Given the description of an element on the screen output the (x, y) to click on. 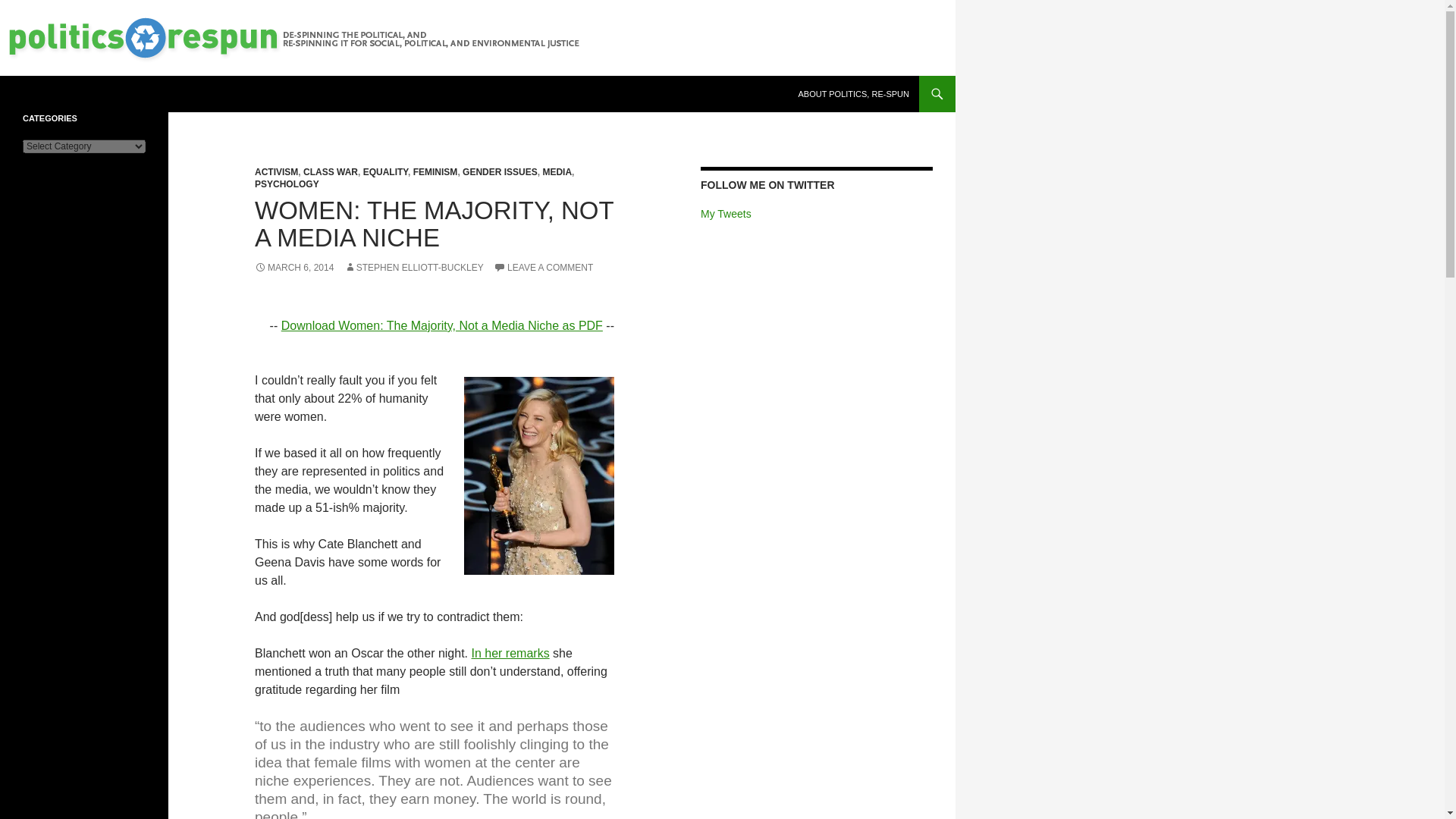
Download Women: The Majority, Not a Media Niche as PDF (441, 325)
MARCH 6, 2014 (293, 267)
CLASS WAR (330, 172)
MEDIA (556, 172)
GENDER ISSUES (500, 172)
In her remarks (510, 653)
STEPHEN ELLIOTT-BUCKLEY (413, 267)
EQUALITY (384, 172)
ACTIVISM (276, 172)
PSYCHOLOGY (286, 184)
Politics, Re-Spun (79, 94)
FEMINISM (435, 172)
LEAVE A COMMENT (542, 267)
ABOUT POLITICS, RE-SPUN (853, 94)
